Given the description of an element on the screen output the (x, y) to click on. 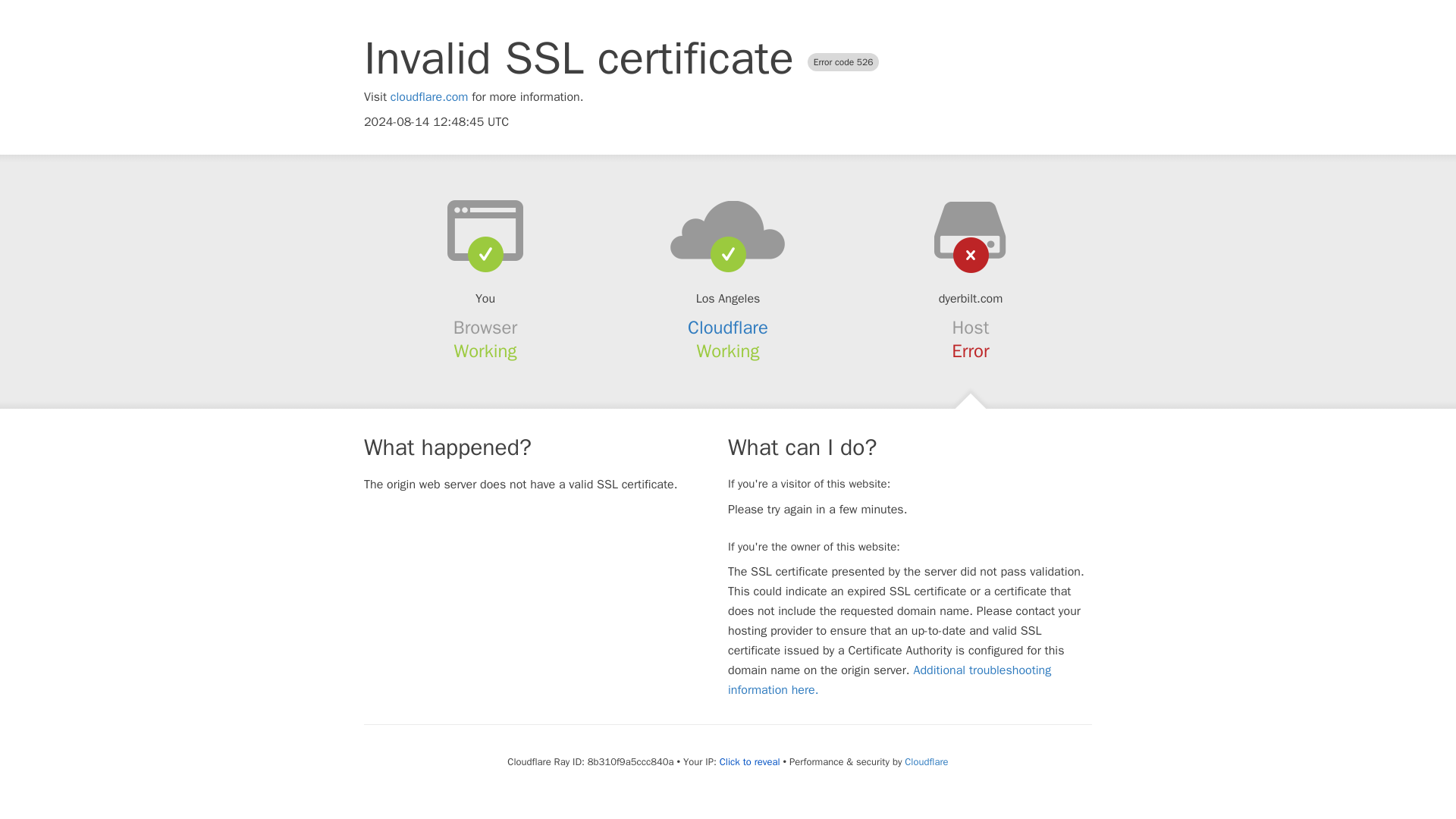
cloudflare.com (429, 96)
Additional troubleshooting information here. (889, 679)
Cloudflare (727, 327)
Cloudflare (925, 761)
Click to reveal (749, 762)
